Given the description of an element on the screen output the (x, y) to click on. 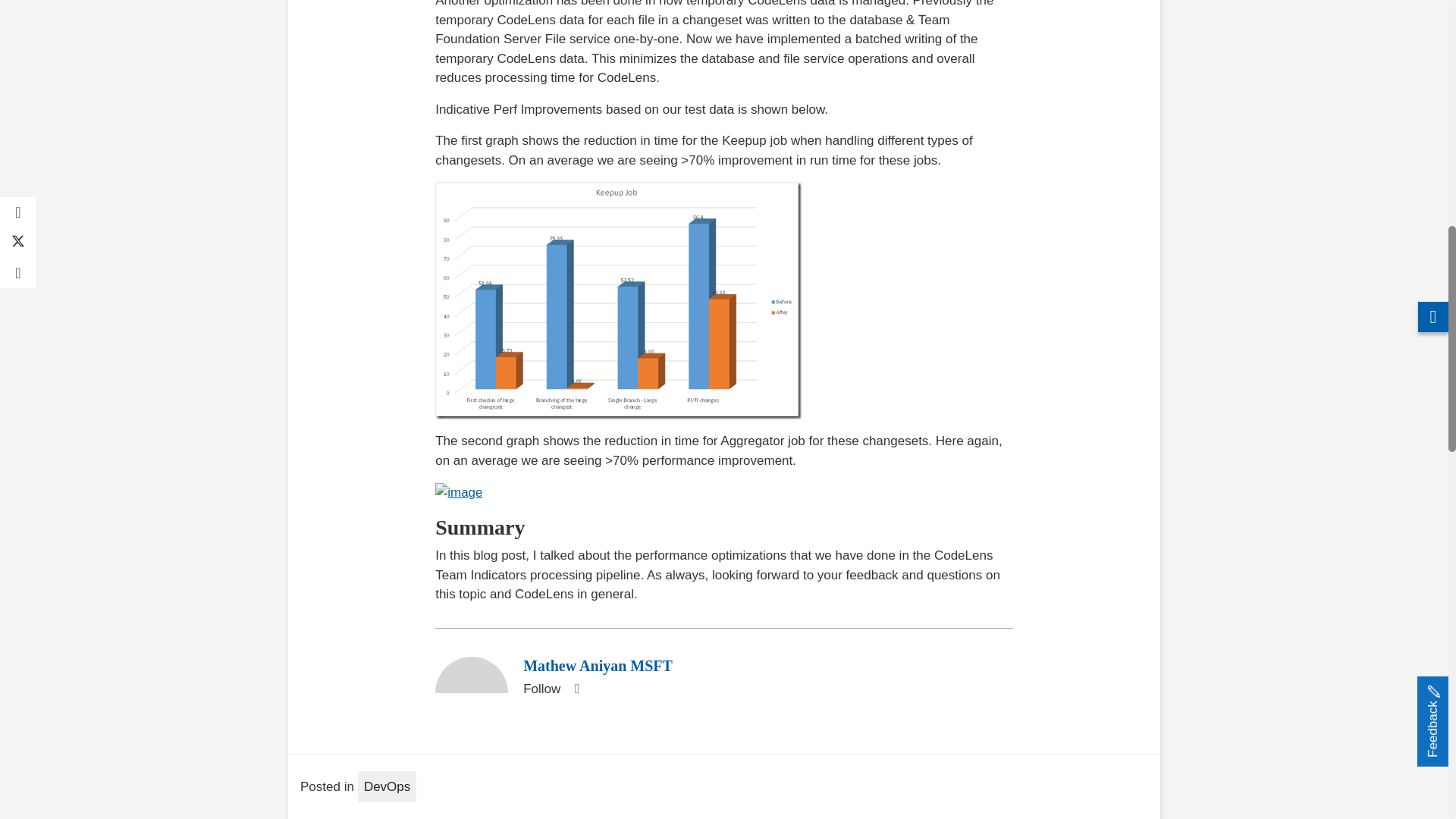
image (618, 300)
RSS Feed (576, 688)
image (458, 492)
